Given the description of an element on the screen output the (x, y) to click on. 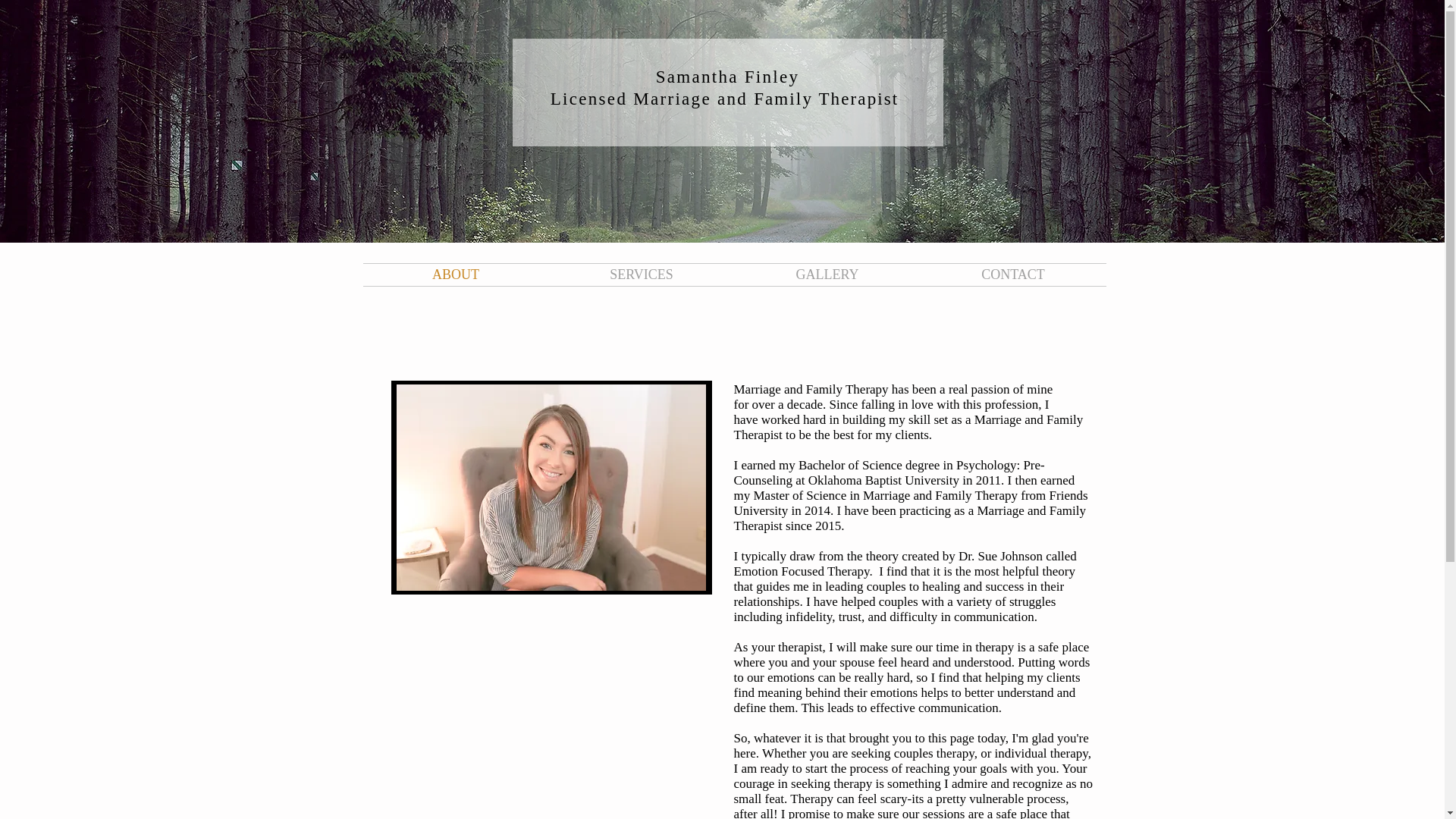
SERVICES (641, 274)
ABOUT (455, 274)
CONTACT (1013, 274)
GALLERY (826, 274)
